Given the description of an element on the screen output the (x, y) to click on. 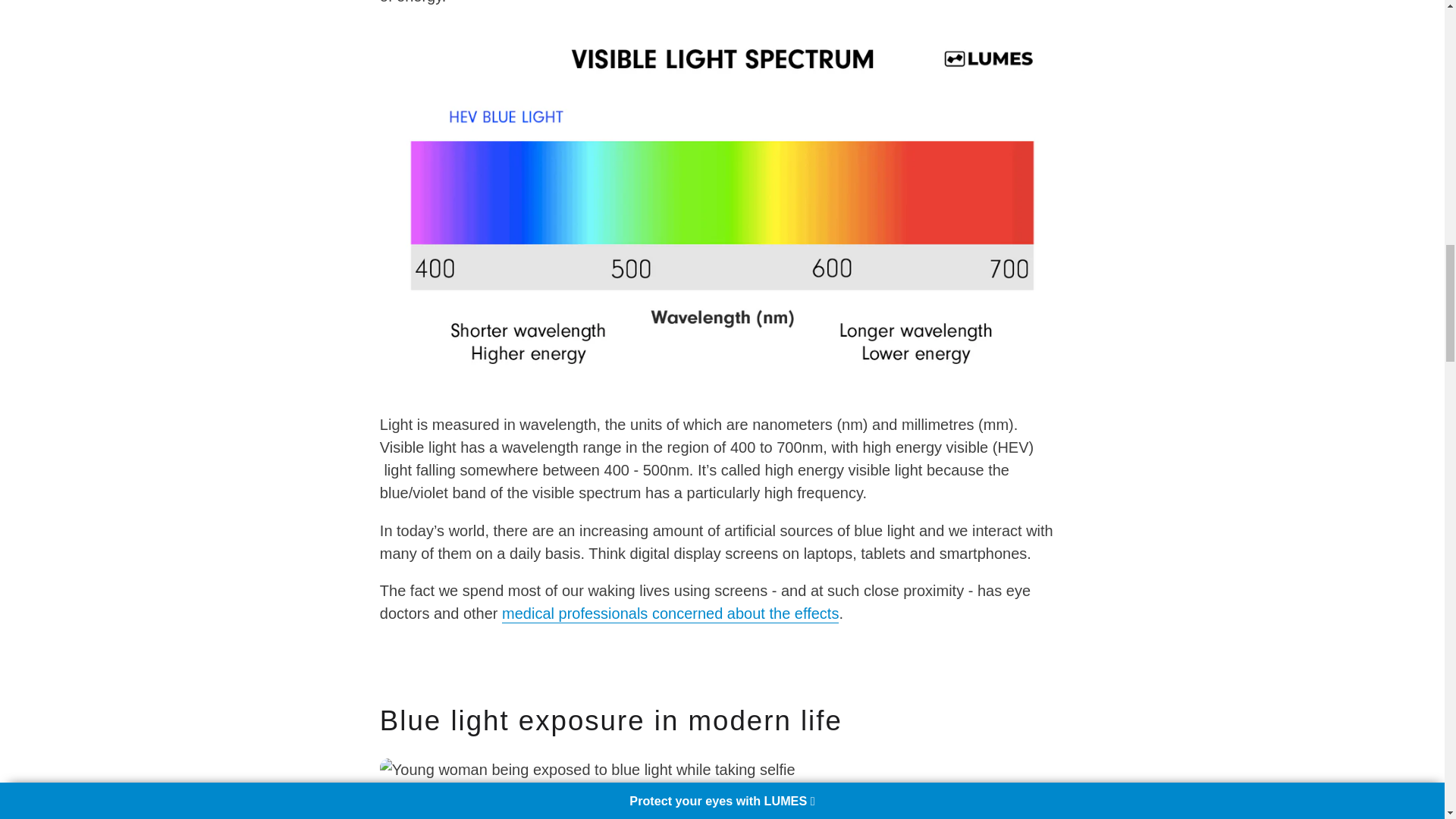
medical professionals concerned about the effects (670, 614)
